Given the description of an element on the screen output the (x, y) to click on. 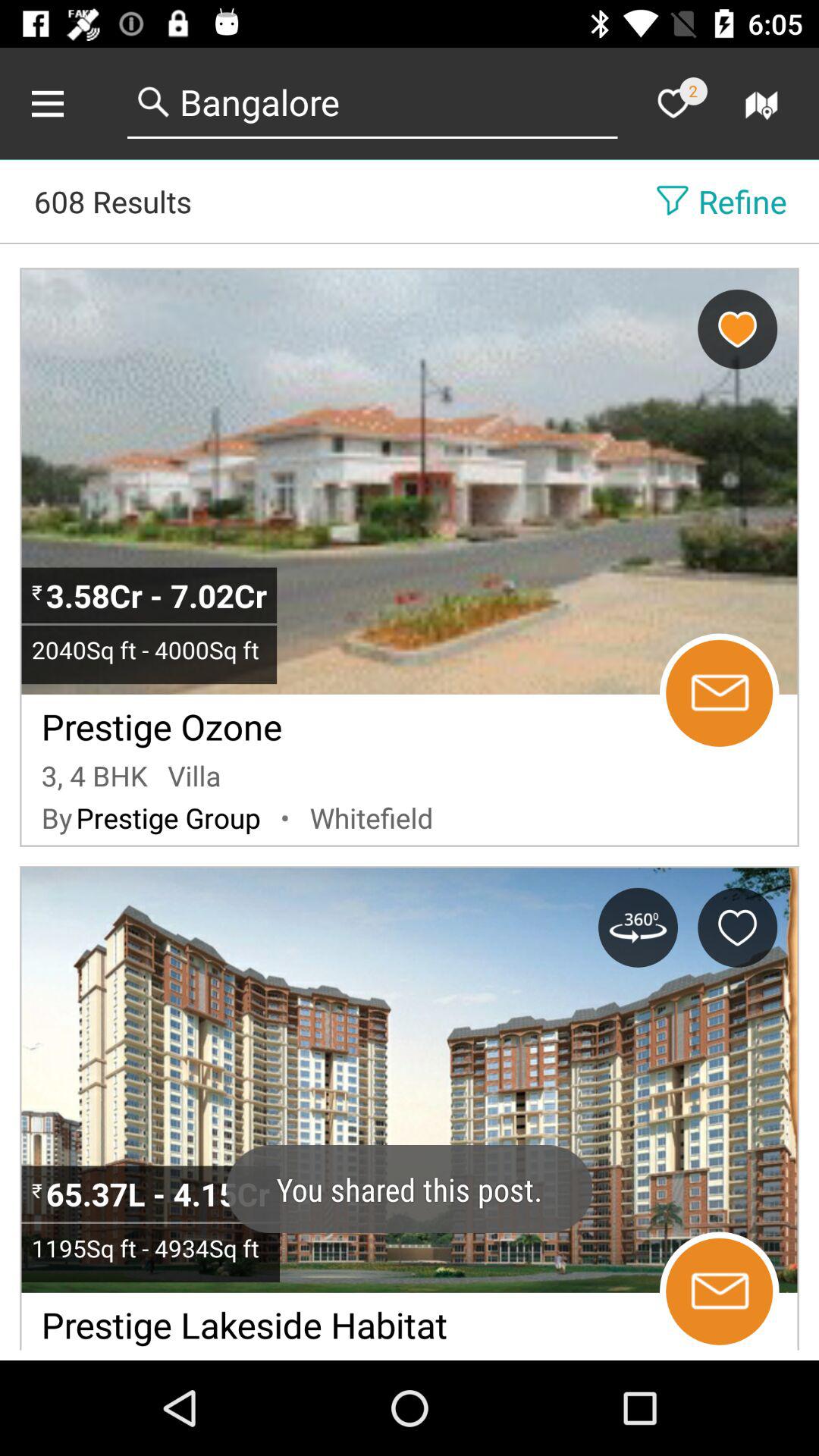
toggle map view (764, 103)
